Given the description of an element on the screen output the (x, y) to click on. 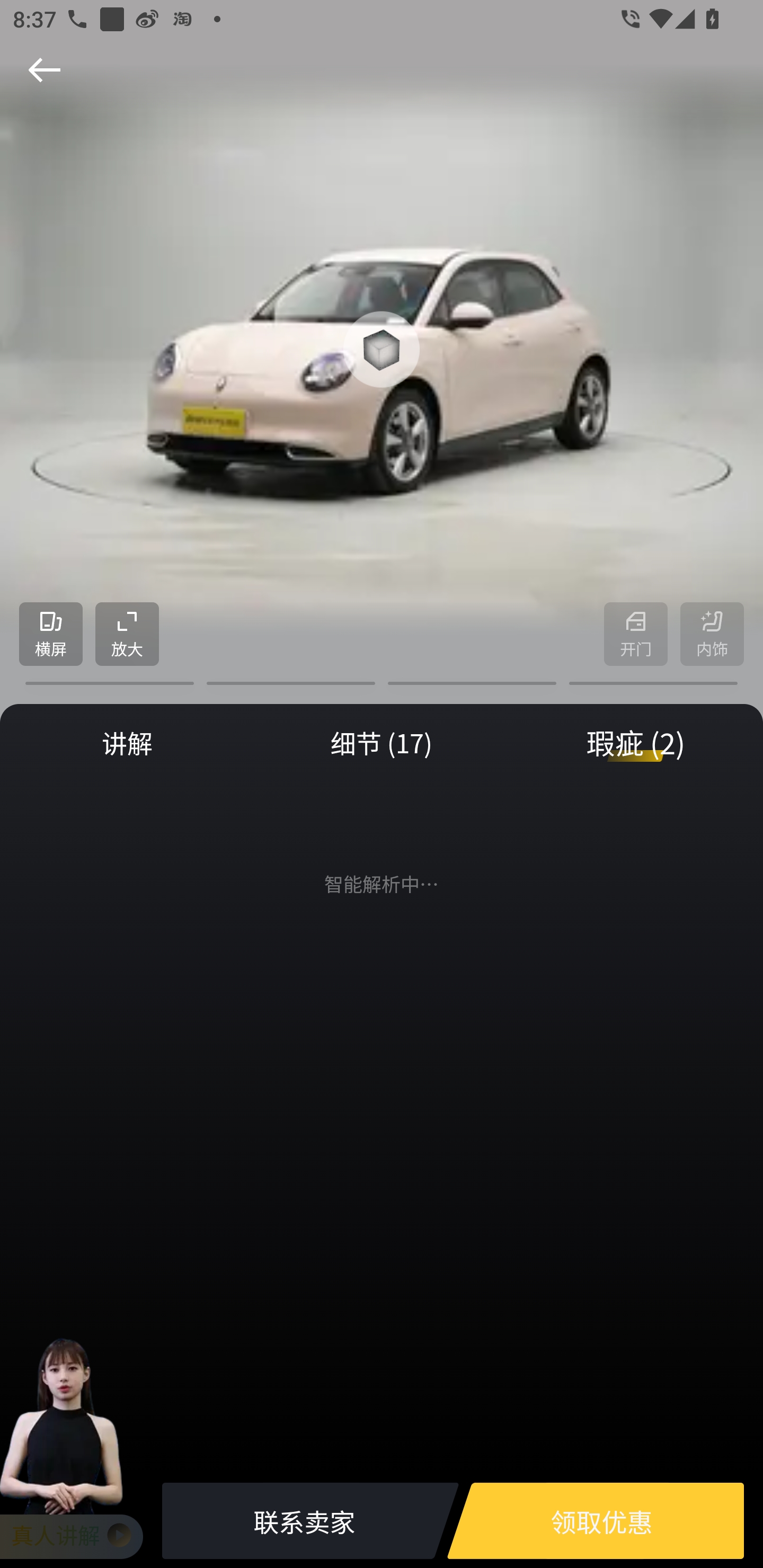
横屏 (50, 634)
放大 (126, 634)
开门 (635, 634)
内饰 (711, 634)
讲解 (127, 743)
细节 (17) (381, 743)
瑕疵 (2) (635, 743)
联系卖家 (303, 1520)
领取优惠 (601, 1520)
